Given the description of an element on the screen output the (x, y) to click on. 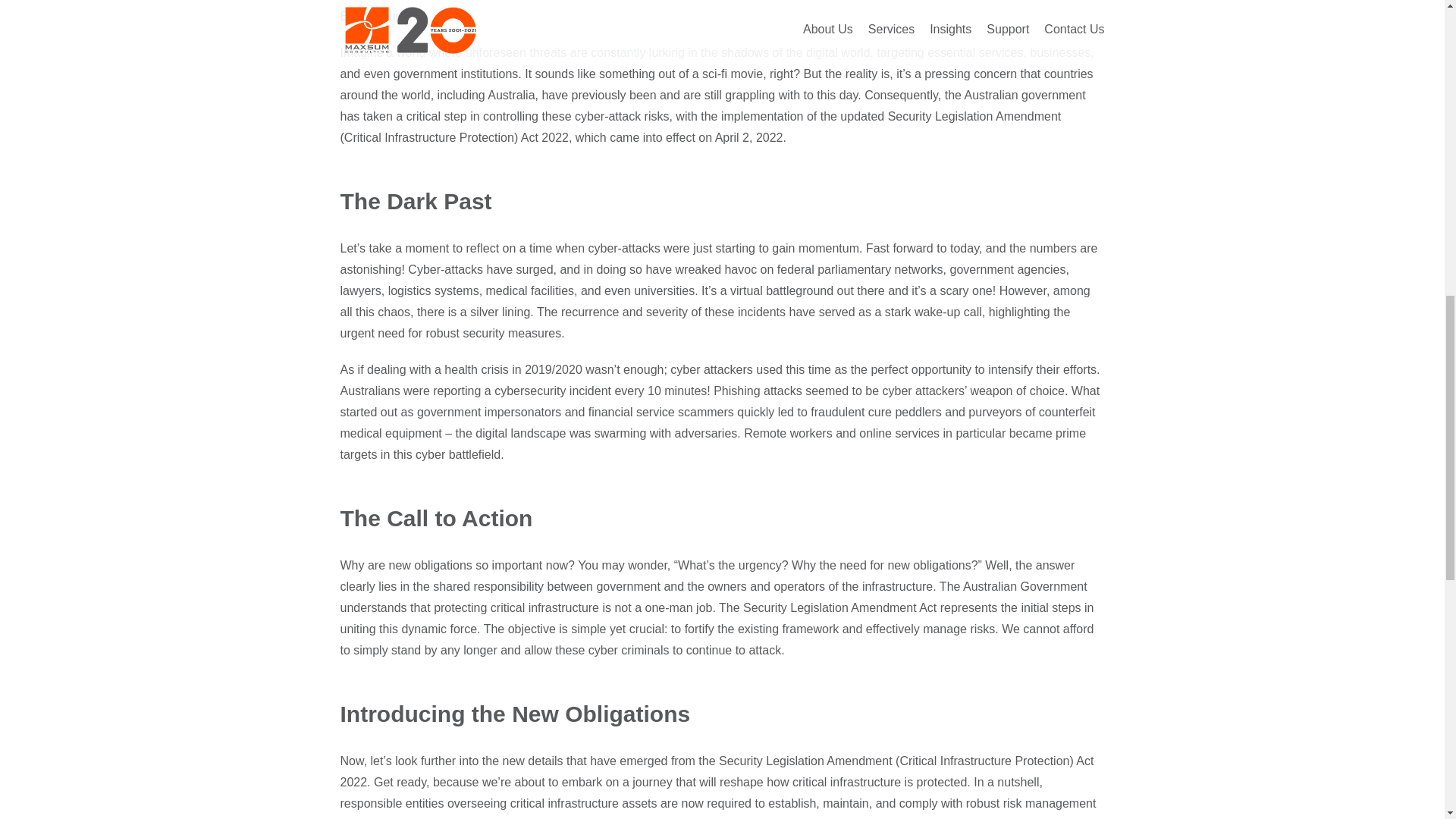
Security (390, 15)
Blog (351, 15)
